Given the description of an element on the screen output the (x, y) to click on. 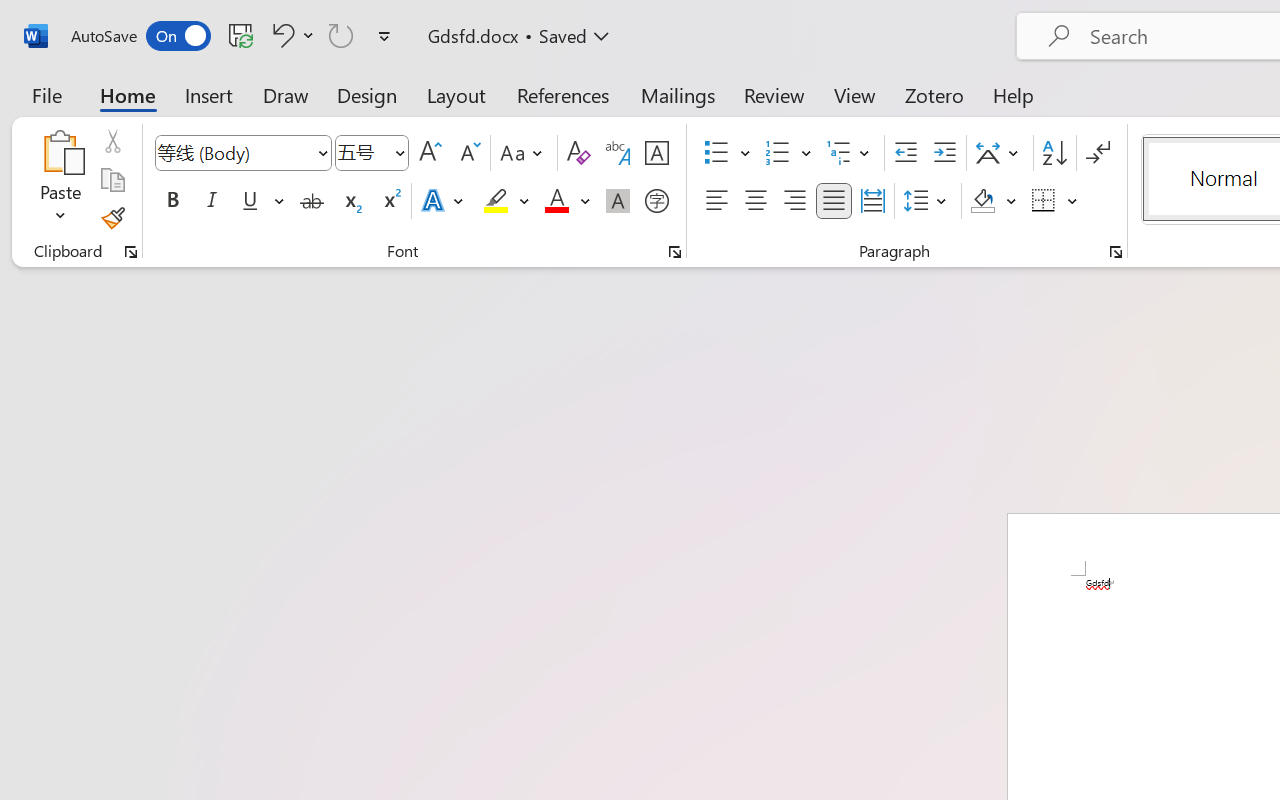
Can't Repeat (341, 35)
